Given the description of an element on the screen output the (x, y) to click on. 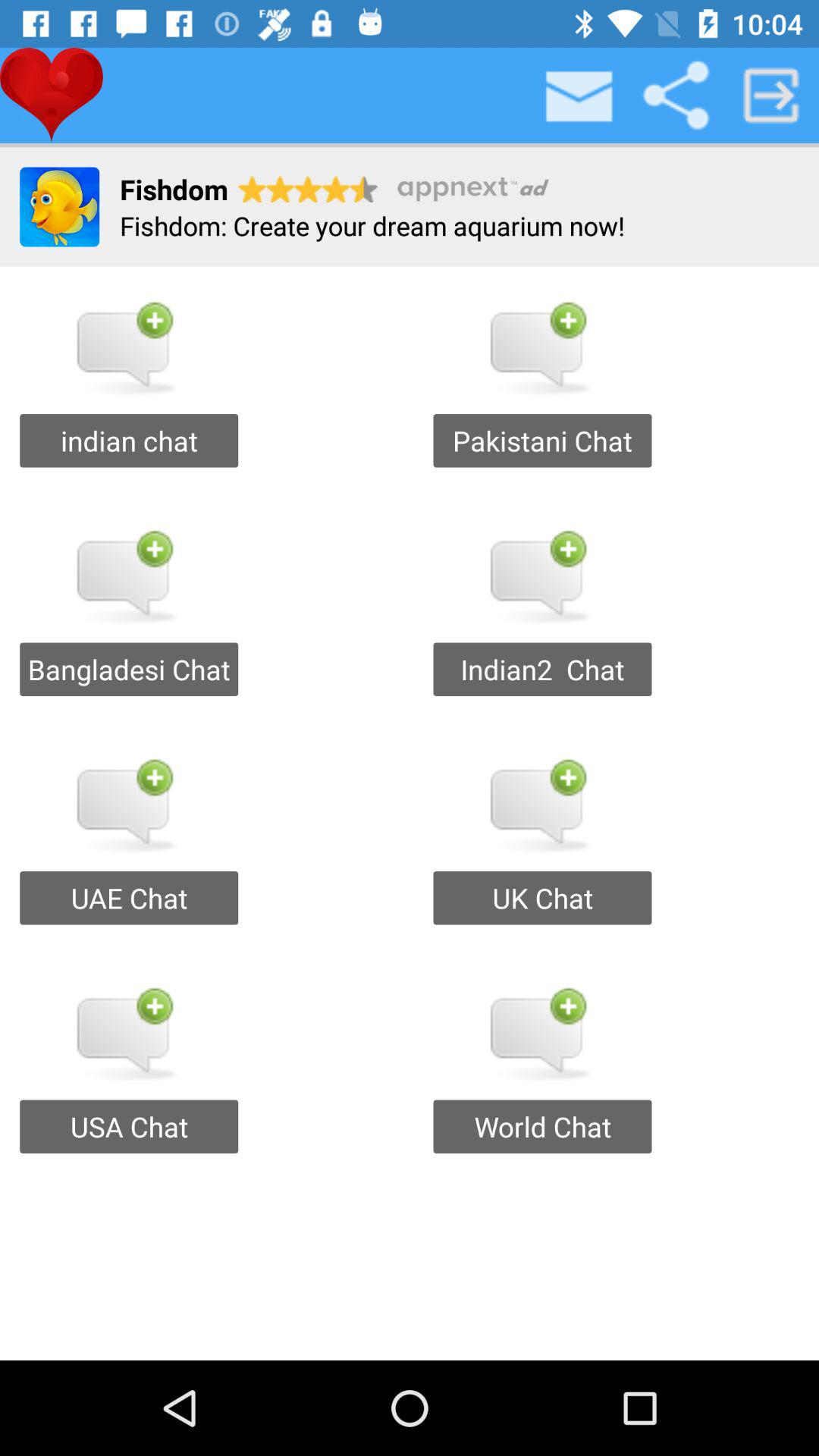
send to someone (771, 95)
